Given the description of an element on the screen output the (x, y) to click on. 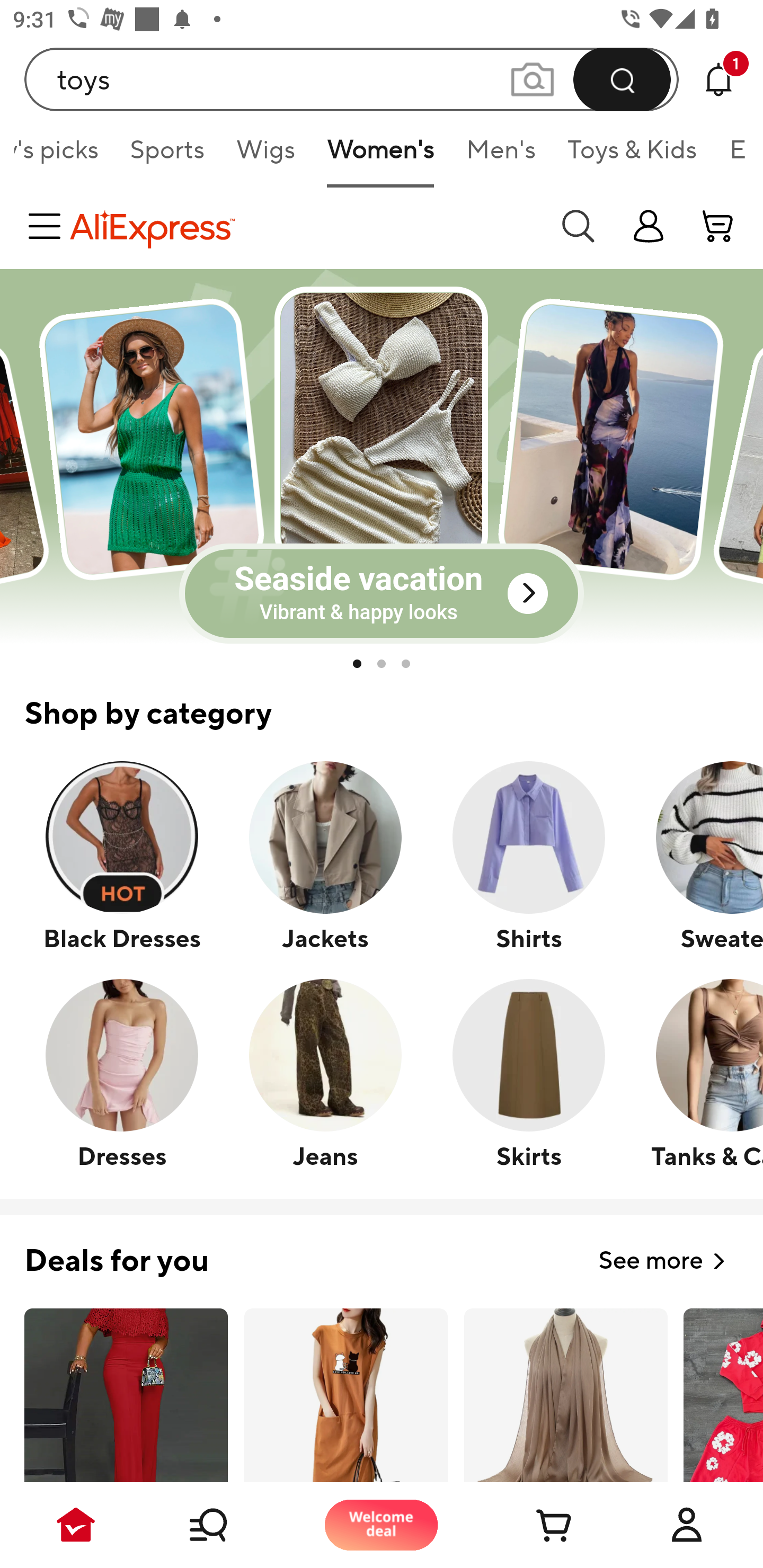
toys (351, 79)
Paddy's picks (63, 155)
Sports (166, 155)
Wigs (265, 155)
Men's (500, 155)
Toys & Kids (632, 155)
aliexpress (305, 225)
category (47, 225)
shop (648, 225)
account (718, 225)
Shop by category (381, 702)
Black Dresses 225x230.png_ Black Dresses (121, 855)
Jackets 225x225.png_ Jackets (324, 855)
Shirts 225x225.png_ Shirts (528, 855)
Sweaters 225x225.png_ Sweaters (696, 855)
Dresses 225x225.png_ Dresses (121, 1073)
Jeans 225x225.png_ Jeans (324, 1073)
Skirts 225x225.png_ Skirts (528, 1073)
Tanks & Camis 225x225.png_ Tanks & Camis (696, 1073)
Deals for you See more  Deals for youSee more (381, 1249)
Shop (228, 1524)
Cart (533, 1524)
Account (686, 1524)
